Given the description of an element on the screen output the (x, y) to click on. 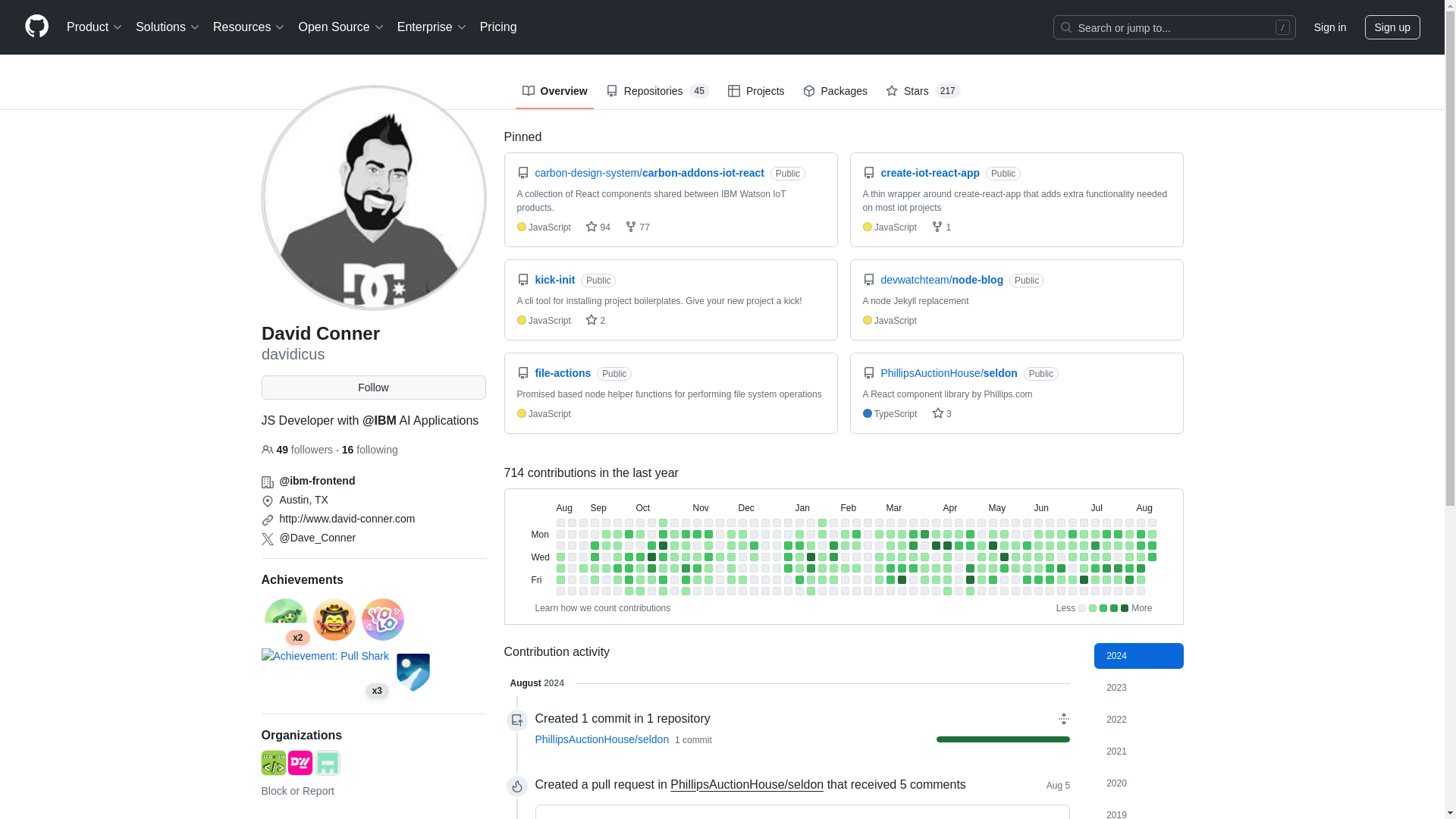
45 (699, 90)
Product (95, 27)
Open Source (341, 27)
Resources (249, 27)
Solutions (167, 27)
X (266, 539)
217 (947, 90)
